Given the description of an element on the screen output the (x, y) to click on. 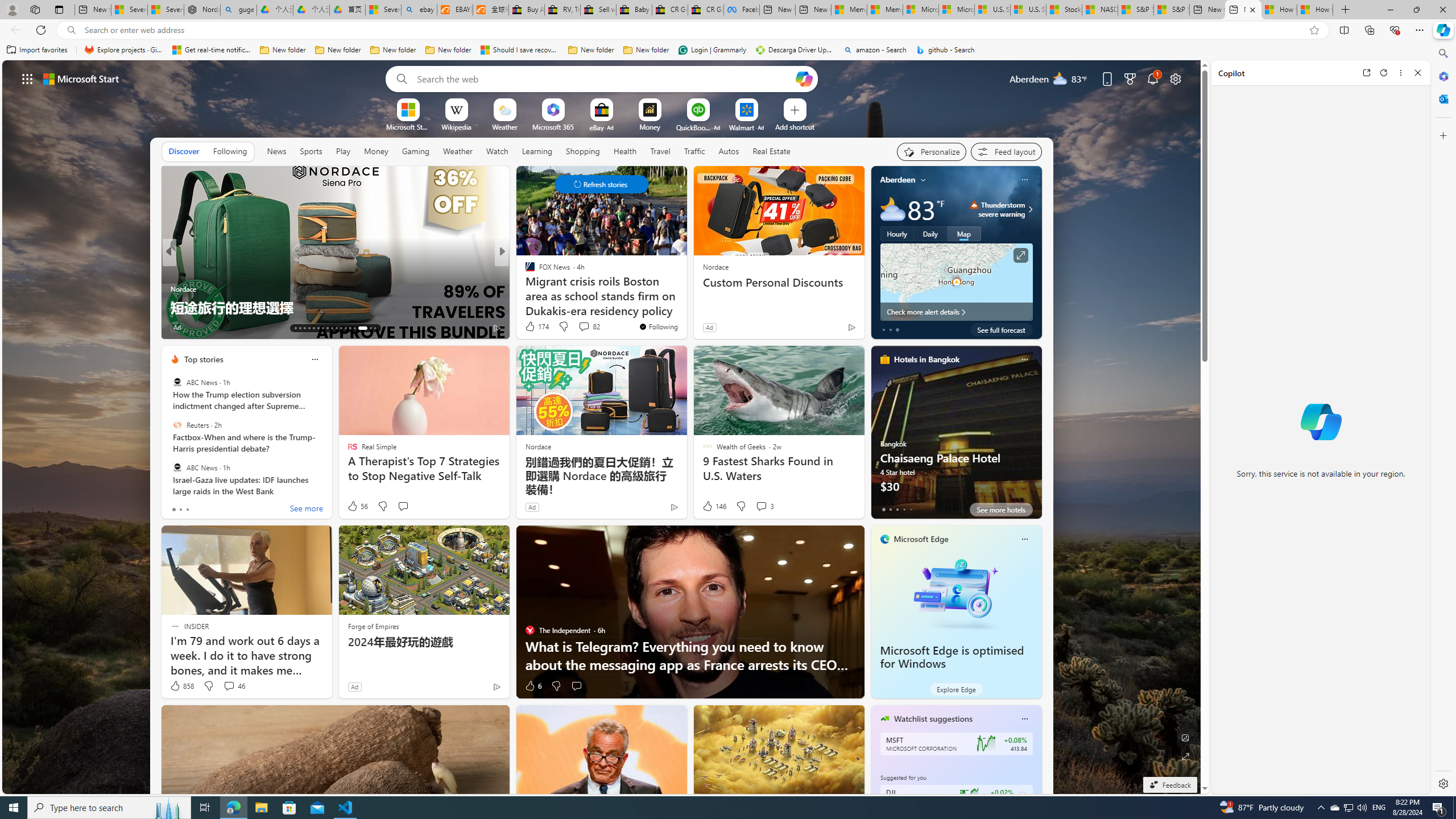
Explore Edge (955, 689)
Learning (537, 151)
Microsoft Edge is optimised for Windows (952, 657)
Class: weather-arrow-glyph (1029, 208)
Traffic (694, 151)
AutomationID: tab-20 (327, 328)
Hourly (896, 233)
56 Like (357, 505)
Autos (729, 151)
Watch (497, 151)
Watch (496, 151)
AutomationID: tab-25 (349, 328)
See more hotels (1000, 509)
